Given the description of an element on the screen output the (x, y) to click on. 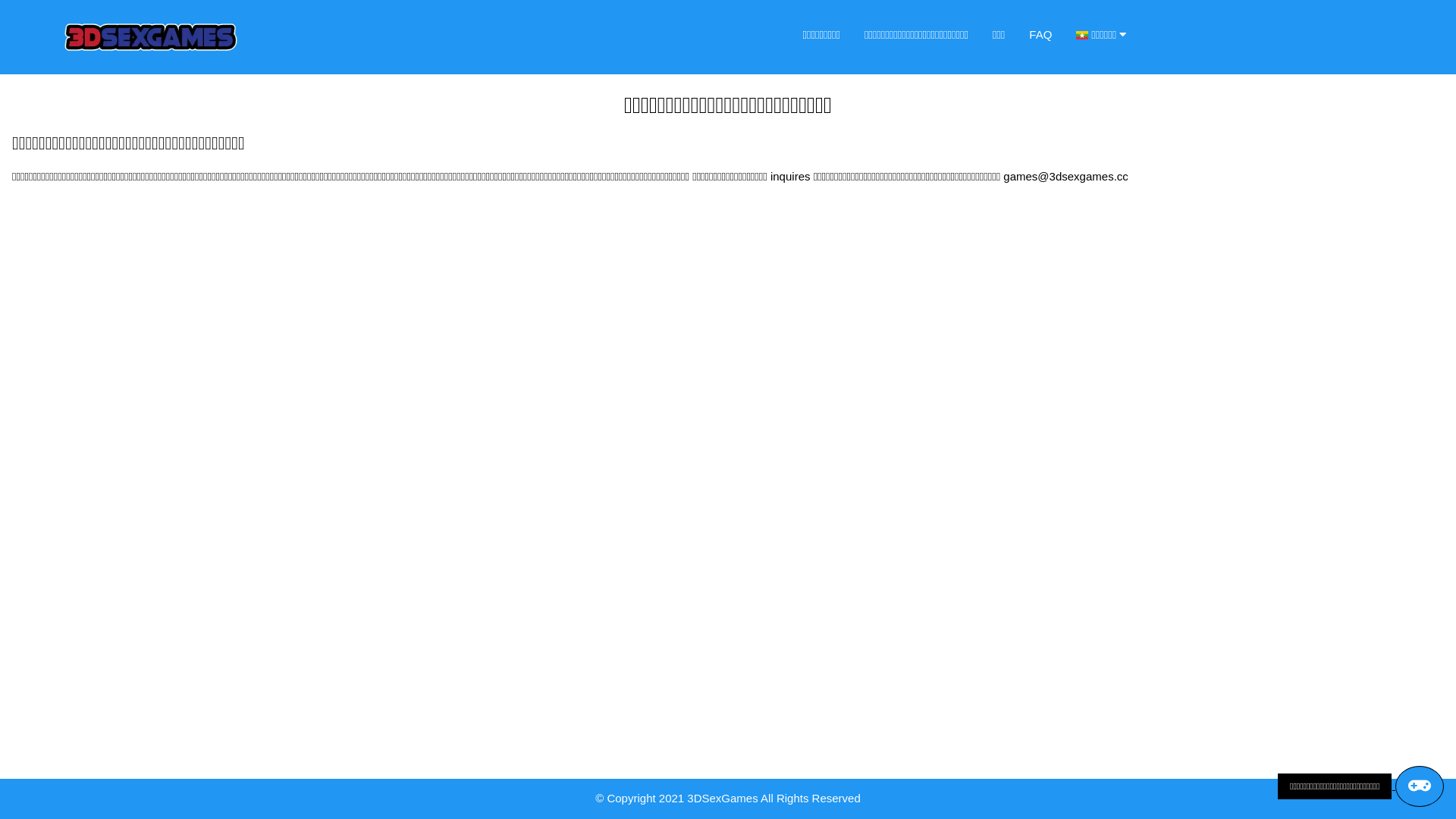
FAQ Element type: text (1039, 35)
